Given the description of an element on the screen output the (x, y) to click on. 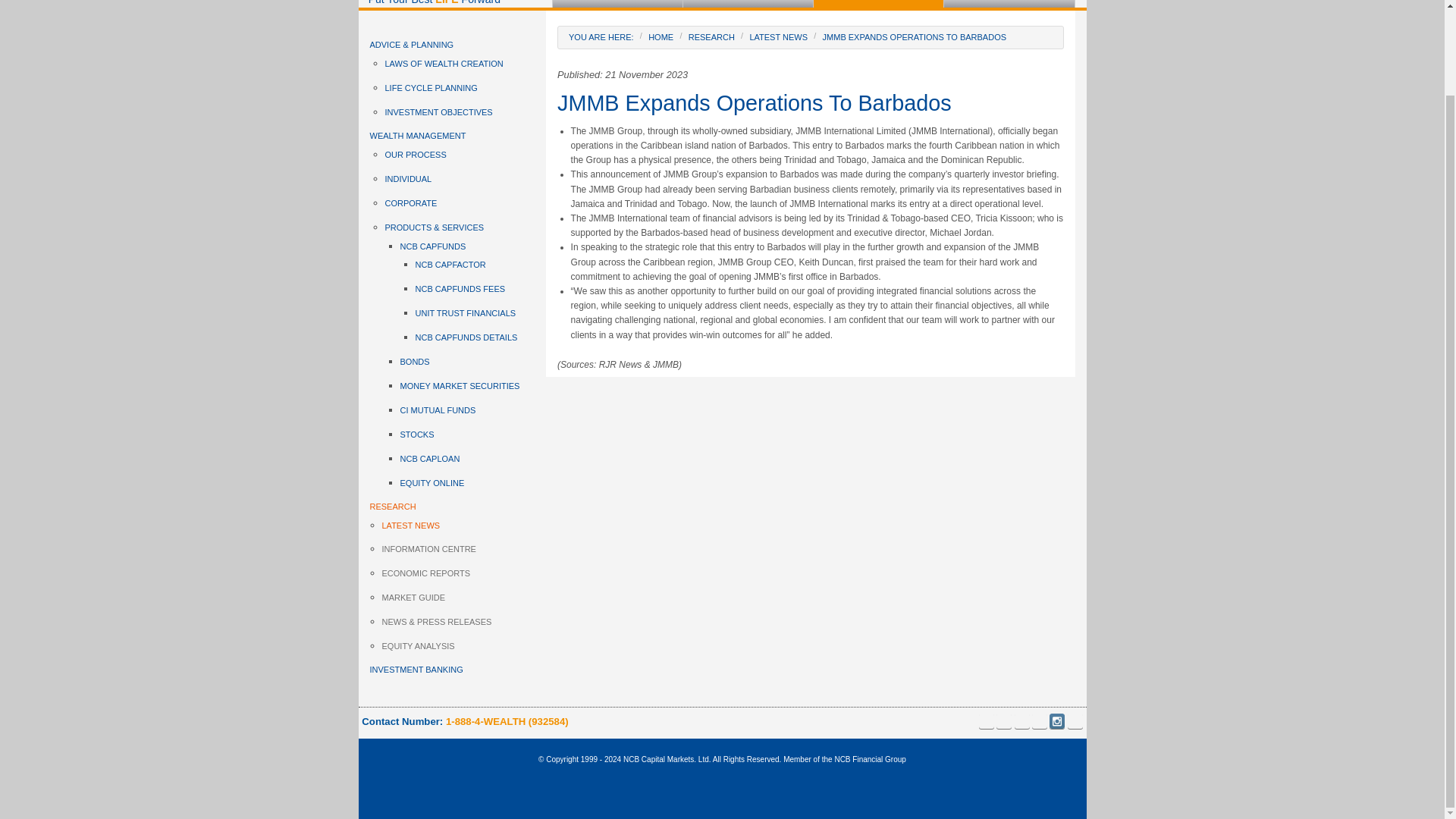
Equity Analysis (894, 152)
LAWS OF WEALTH CREATION (466, 64)
Economic Reports (894, 74)
Market Guide (894, 100)
INVESTMENT BANKING (1008, 3)
WEALTH MANAGEMENT (747, 3)
RESEARCH (877, 3)
Information Centre (894, 49)
Life Cycle Planning (633, 46)
INVESTMENT OBJECTIVES (466, 113)
